Given the description of an element on the screen output the (x, y) to click on. 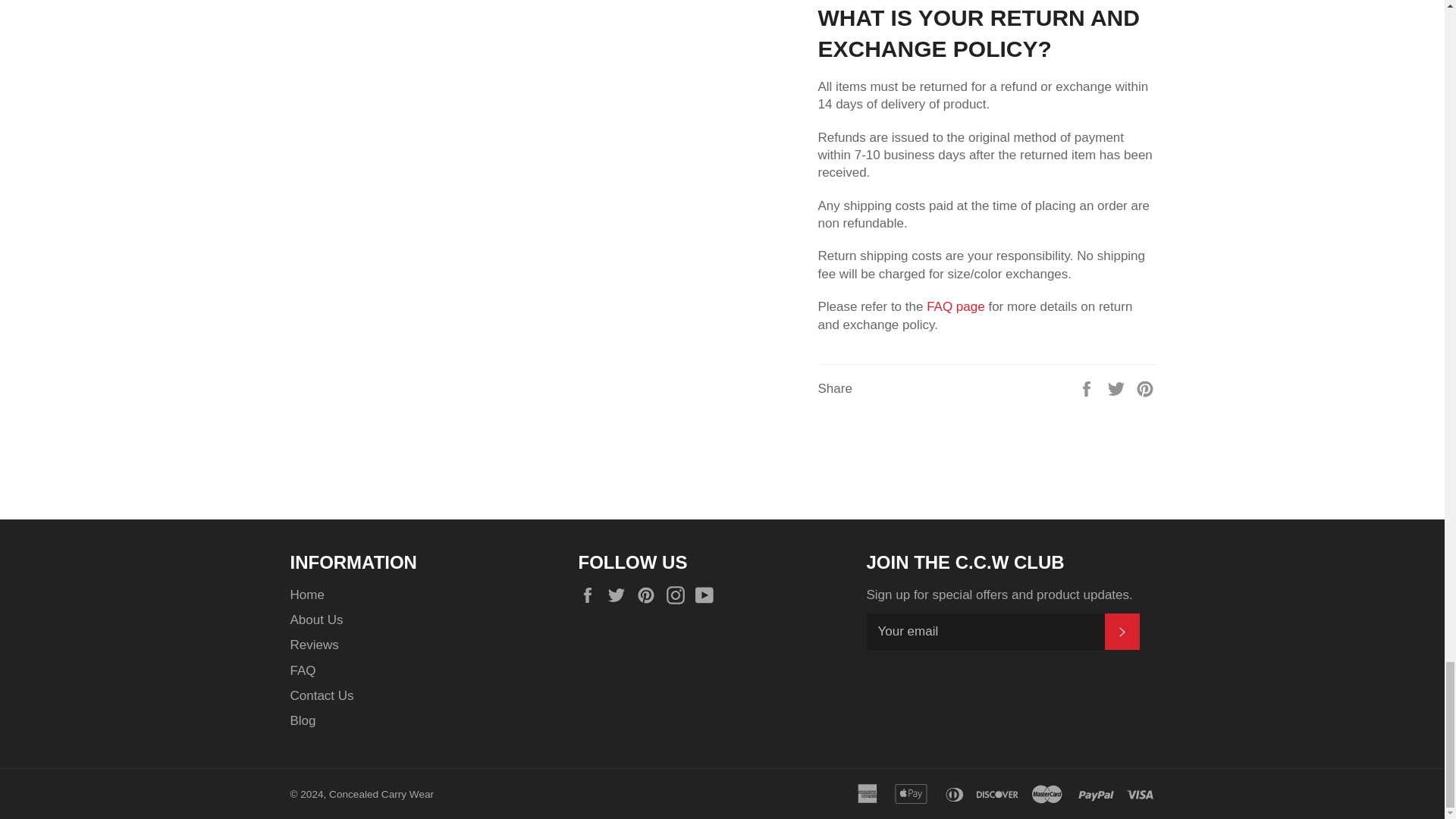
Concealed Carry Wear on YouTube (707, 594)
return and exchange policy (957, 306)
Concealed Carry Wear on Pinterest (649, 594)
Pin on Pinterest (1144, 388)
Concealed Carry Wear on Twitter (620, 594)
Share on Facebook (1088, 388)
Tweet on Twitter (1117, 388)
Concealed Carry Wear on Instagram (679, 594)
Concealed Carry Wear on Facebook (591, 594)
